Given the description of an element on the screen output the (x, y) to click on. 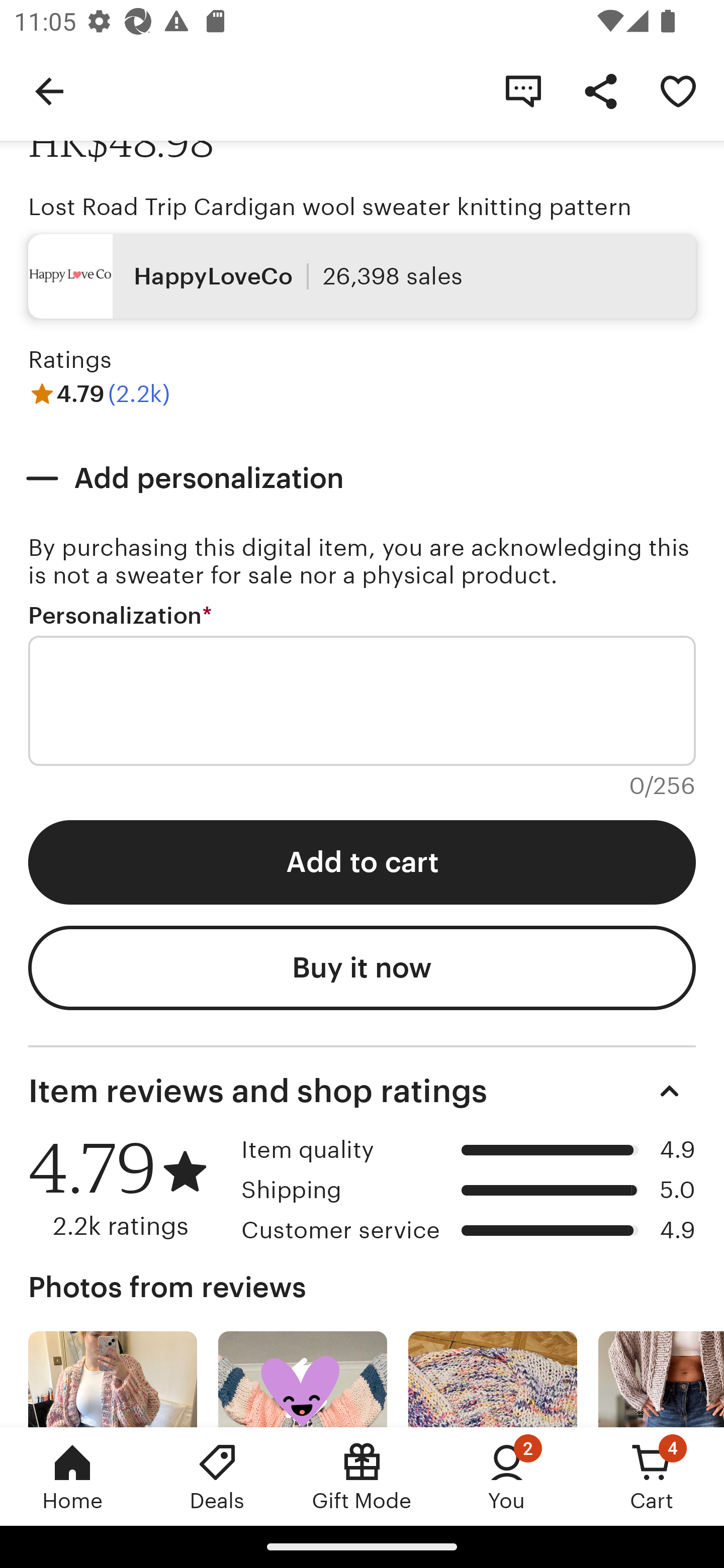
Navigate up (49, 90)
Contact shop (523, 90)
Share (600, 90)
HappyLoveCo 26,398 sales (361, 275)
Ratings (70, 359)
4.79 (2.2k) (99, 393)
Add personalization Add personalization Required (362, 477)
Add to cart (361, 862)
Buy it now (361, 967)
Item reviews and shop ratings (362, 1090)
4.79 2.2k ratings (127, 1188)
Deals (216, 1475)
Gift Mode (361, 1475)
You, 2 new notifications You (506, 1475)
Cart, 4 new notifications Cart (651, 1475)
